Given the description of an element on the screen output the (x, y) to click on. 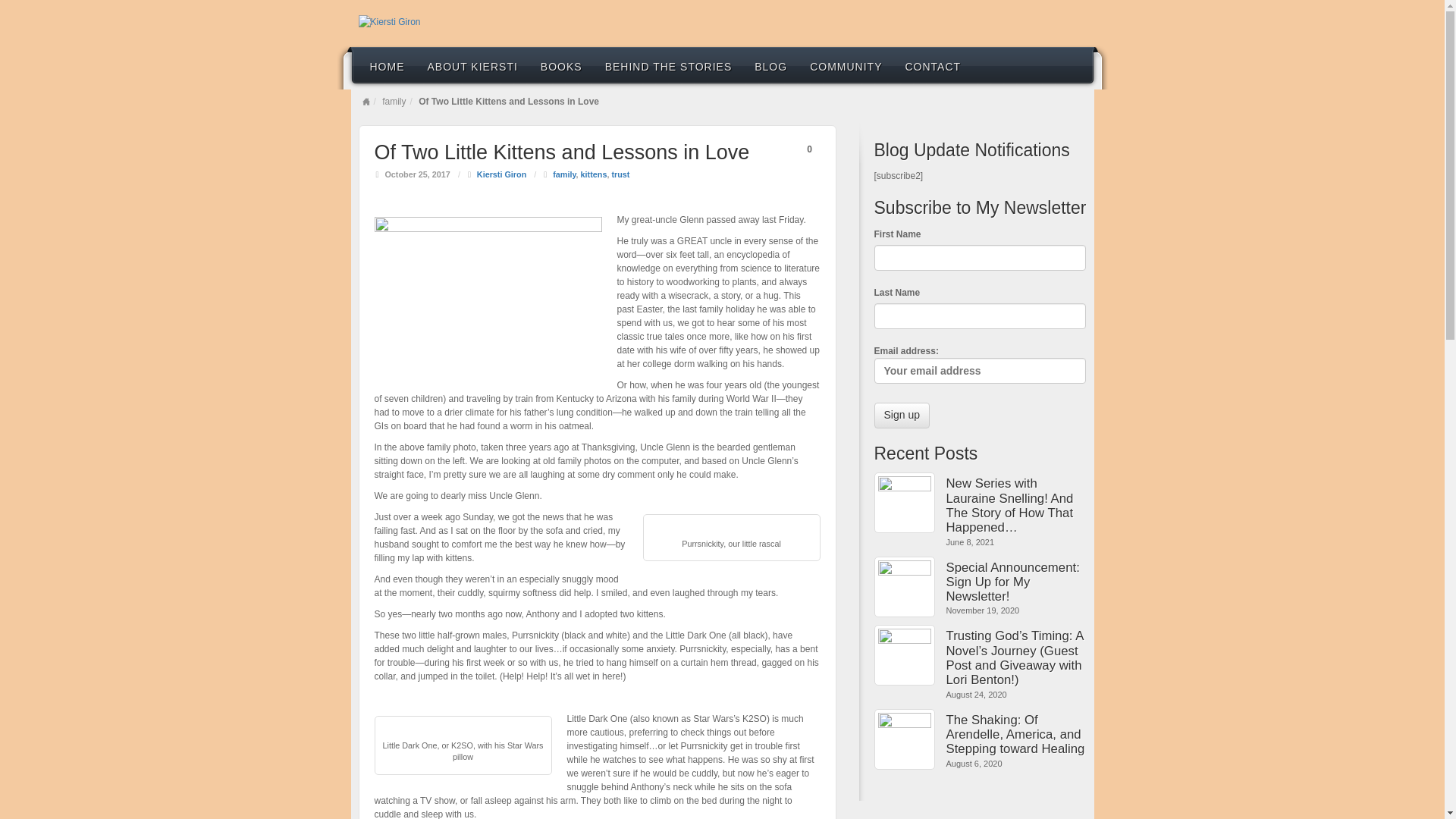
family (564, 174)
HOME (386, 65)
Search the site... (1072, 65)
Special Announcement: Sign Up for My Newsletter! (1016, 582)
kittens (593, 174)
Kiersti Giron (501, 174)
View all posts by Kiersti Giron (501, 174)
CONTACT (932, 65)
trust (619, 174)
BEHIND THE STORIES (669, 65)
BLOG (769, 65)
Facebook (1051, 22)
family (393, 101)
COMMUNITY (845, 65)
BOOKS (561, 65)
